Given the description of an element on the screen output the (x, y) to click on. 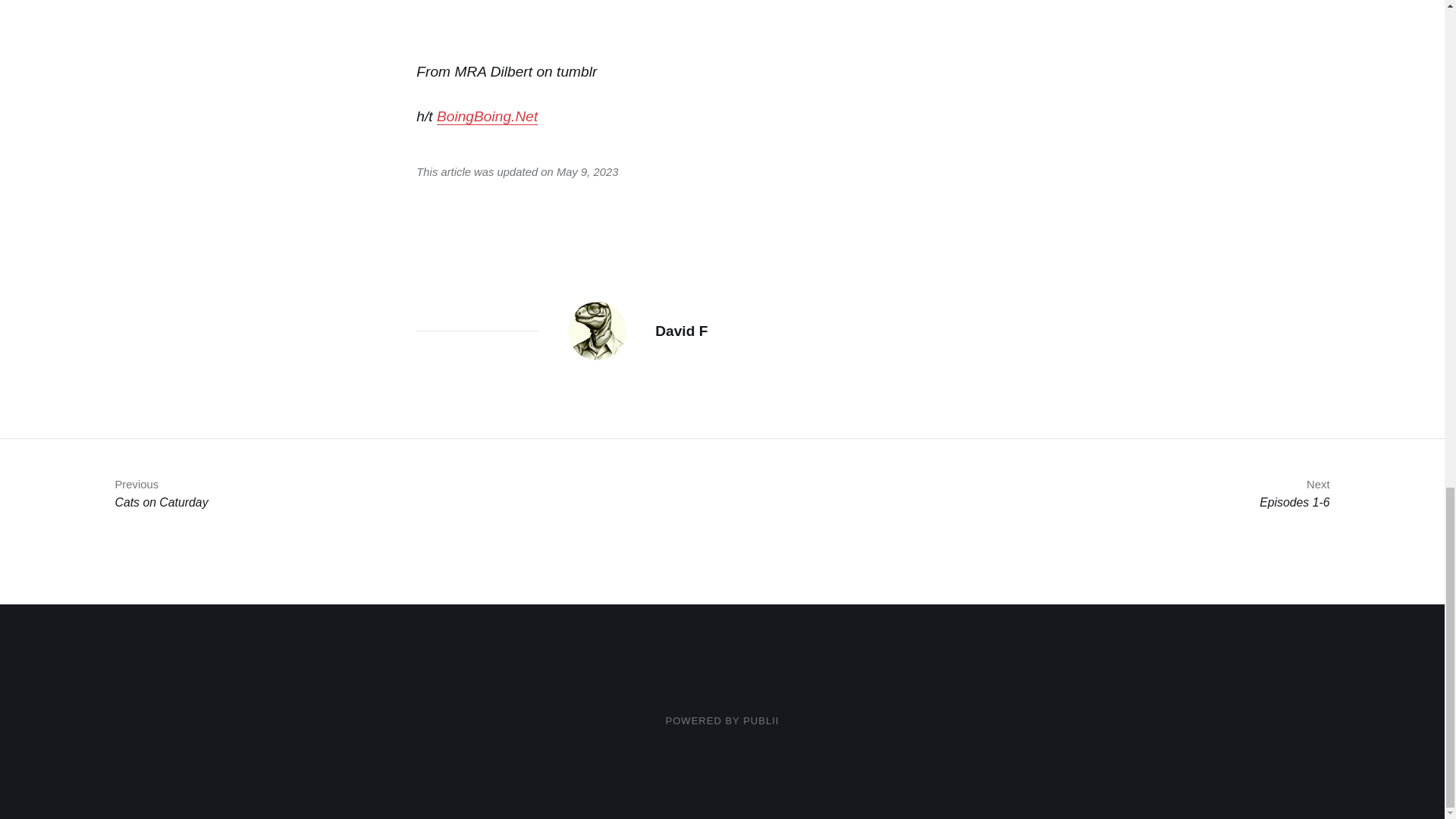
BoingBoing.Net (486, 116)
David F (681, 330)
